Given the description of an element on the screen output the (x, y) to click on. 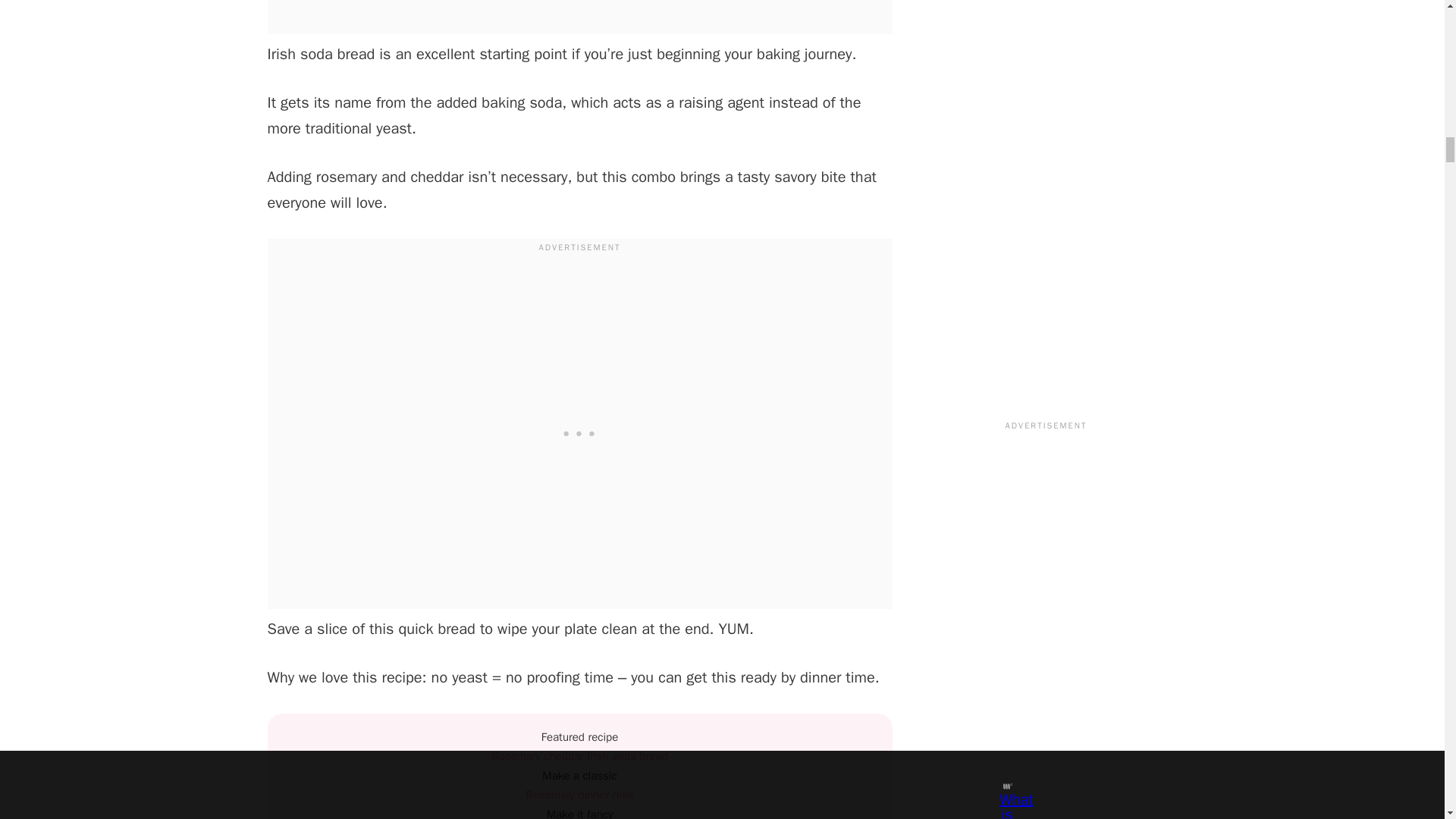
Rosemary dinner rolls (579, 794)
Rosemary cheddar Irish soda bread (579, 755)
